Given the description of an element on the screen output the (x, y) to click on. 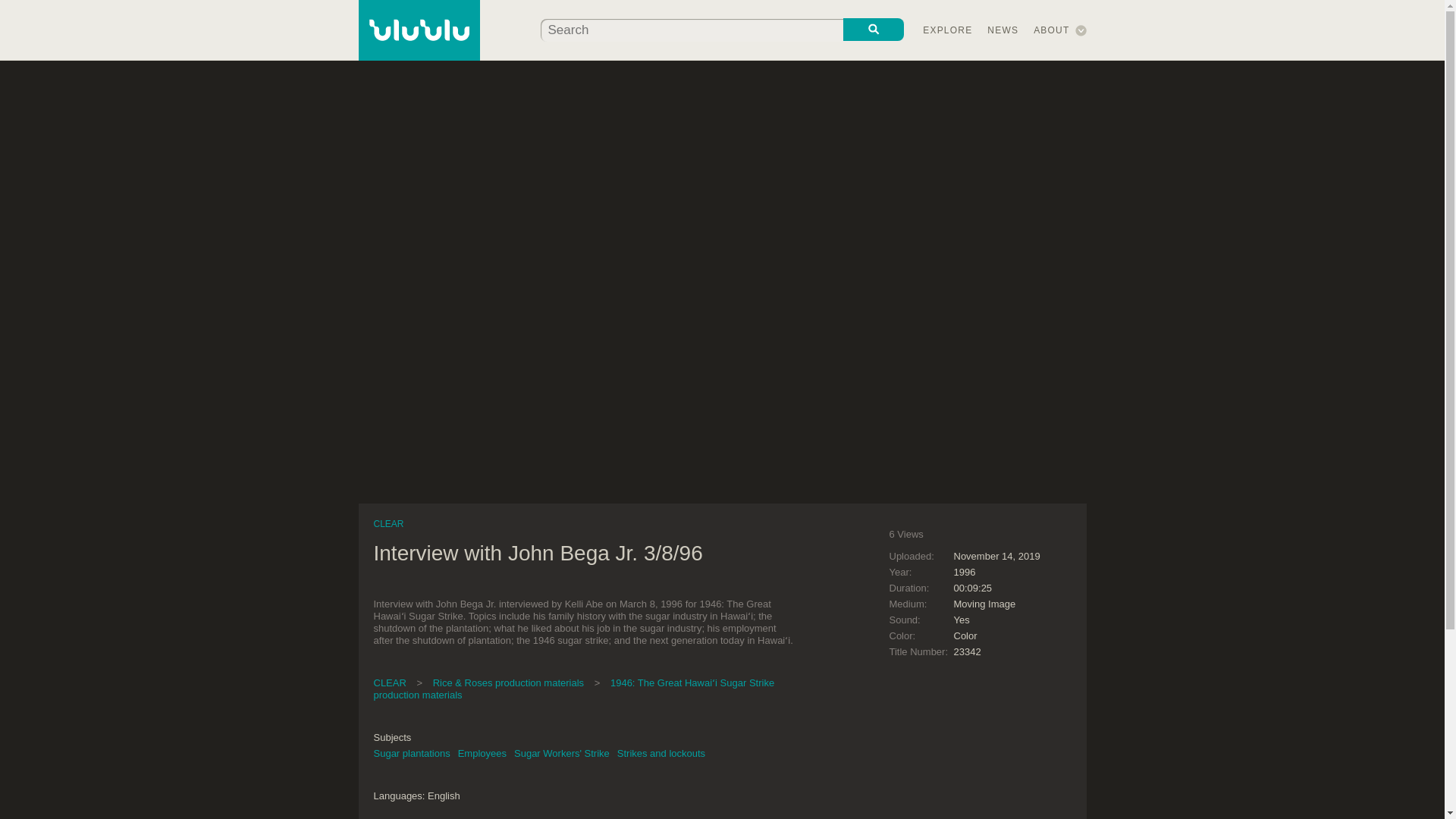
submit (873, 29)
CLEAR (387, 523)
Sugar Workers' Strike (561, 753)
ABOUT (1050, 30)
Employees (482, 753)
NEWS (1002, 30)
Sugar plantations (410, 753)
CLEAR (389, 682)
Strikes and lockouts (660, 753)
EXPLORE (947, 30)
Browse our collections (947, 30)
Recent archive news (1002, 30)
submit (873, 29)
Learn more about the archive (1050, 30)
